Given the description of an element on the screen output the (x, y) to click on. 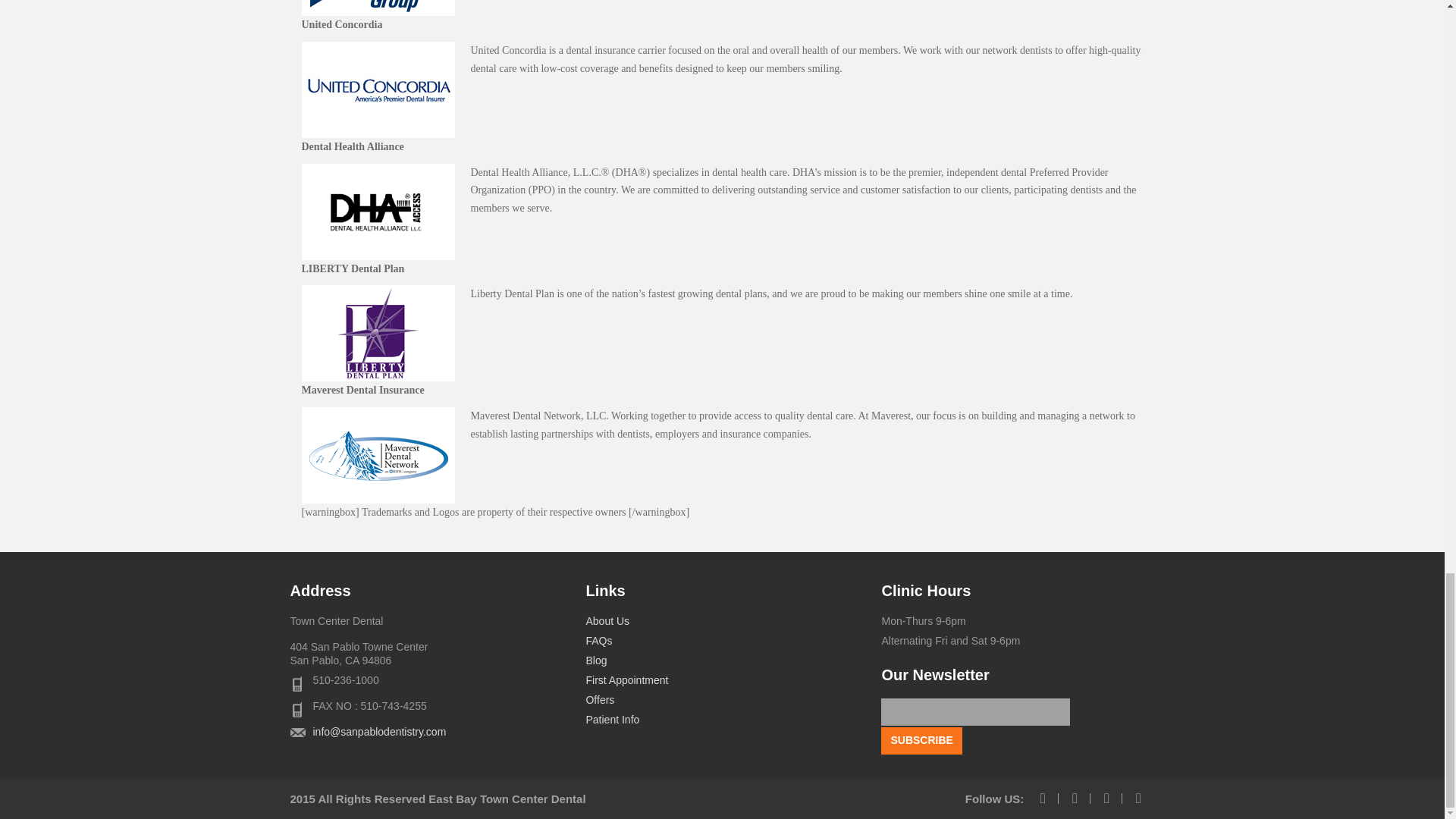
Subscribe (920, 740)
